Given the description of an element on the screen output the (x, y) to click on. 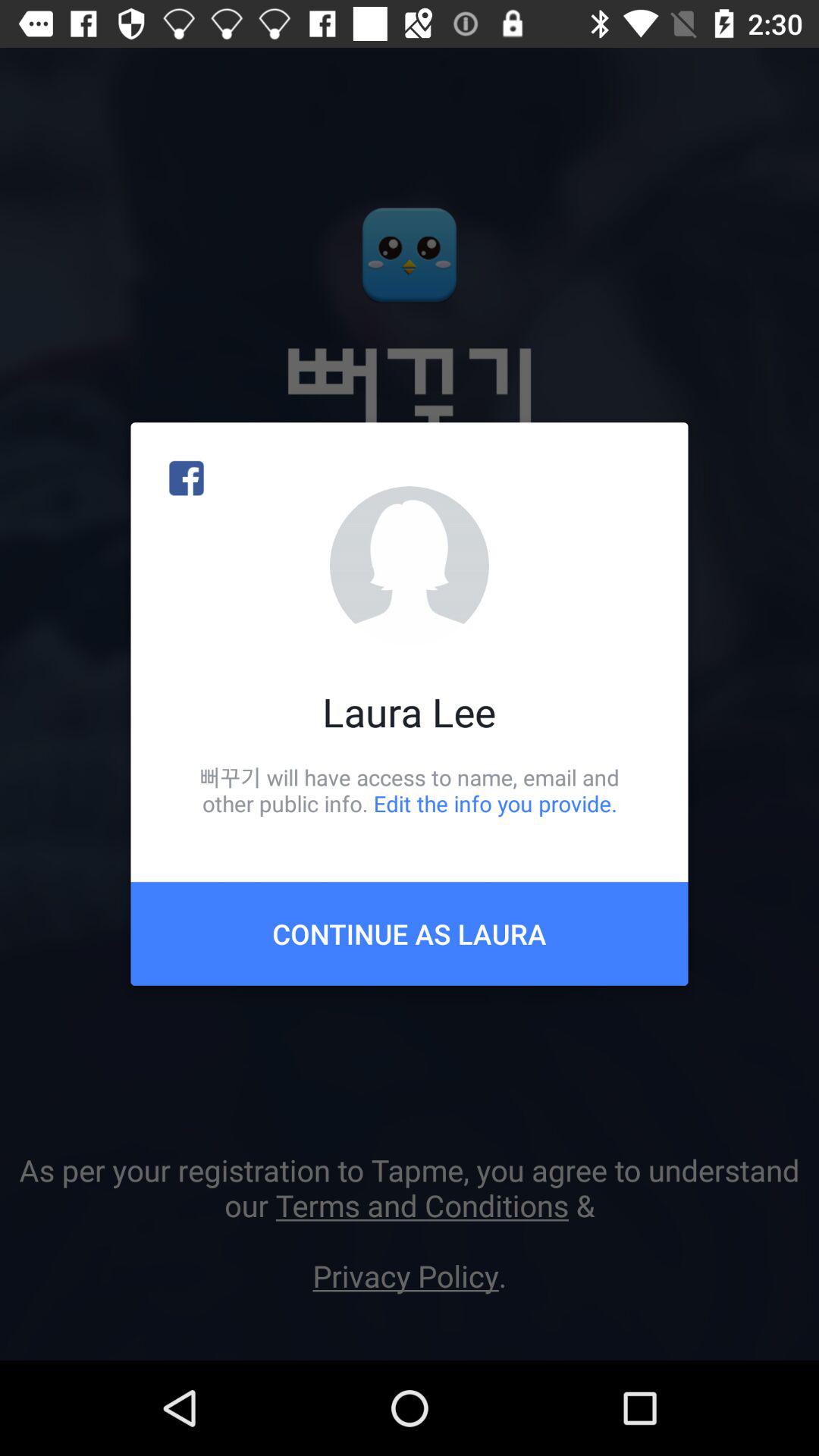
swipe until the continue as laura (409, 933)
